Given the description of an element on the screen output the (x, y) to click on. 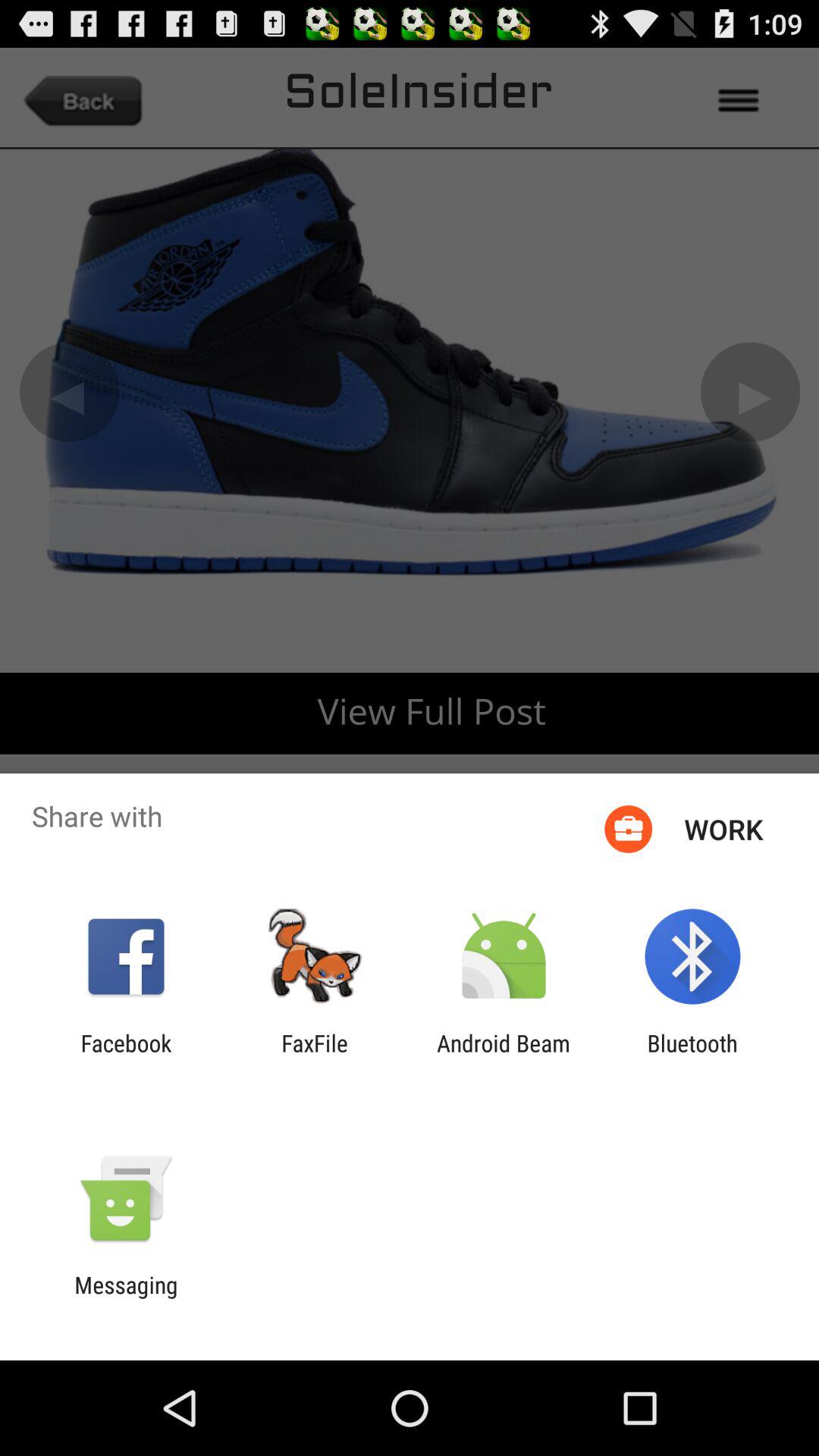
launch the item to the left of the bluetooth item (503, 1056)
